Given the description of an element on the screen output the (x, y) to click on. 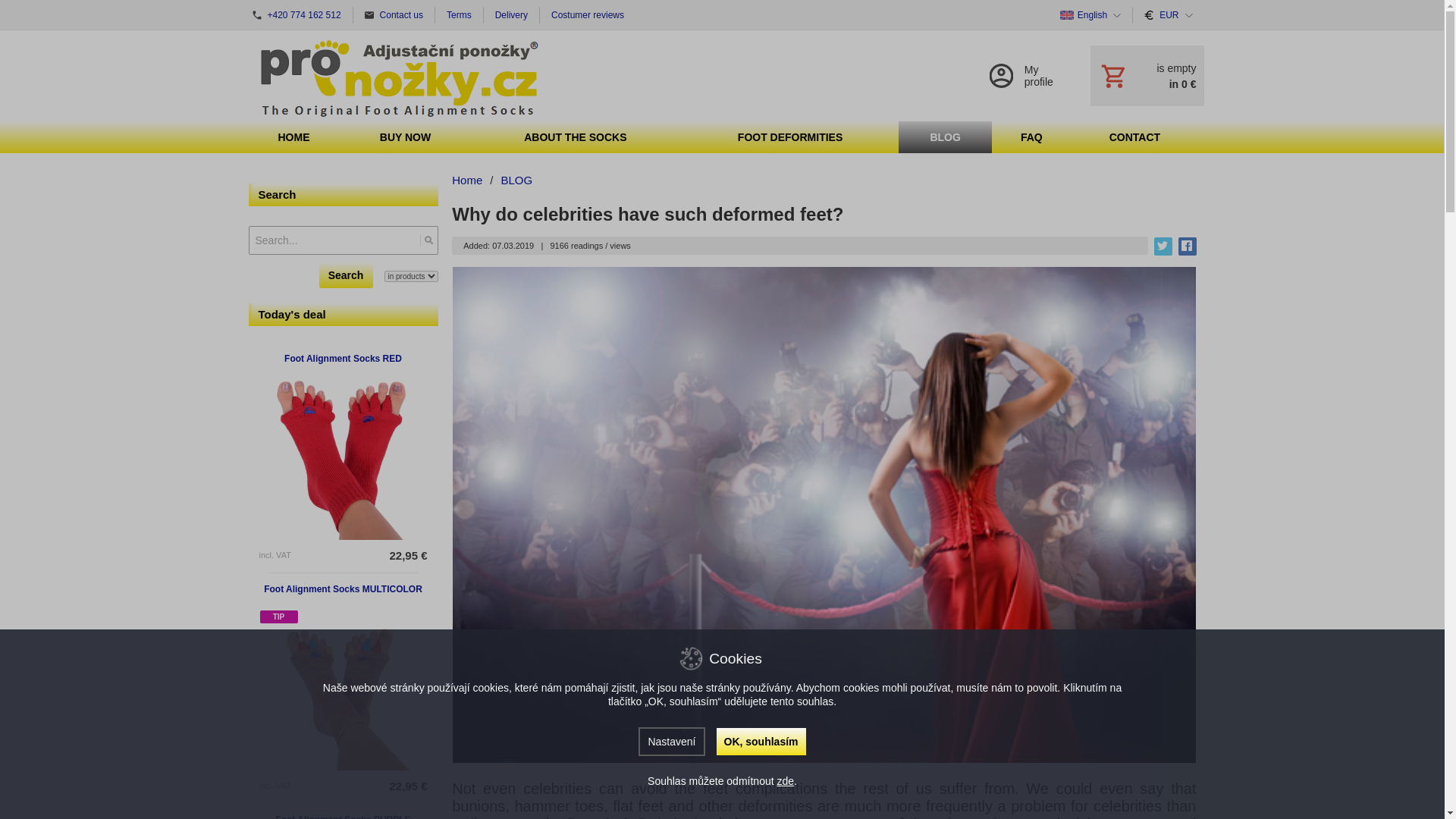
Terms (458, 14)
CONTACT (1134, 137)
Share this article on Twitter (1163, 245)
Share this article on Facebook (1186, 245)
FOOT DEFORMITIES (789, 137)
BLOG (944, 137)
ABOUT THE SOCKS (575, 137)
Foot Alignment Socks RED (342, 357)
 Contact us (393, 14)
Costumer reviews (587, 14)
